Given the description of an element on the screen output the (x, y) to click on. 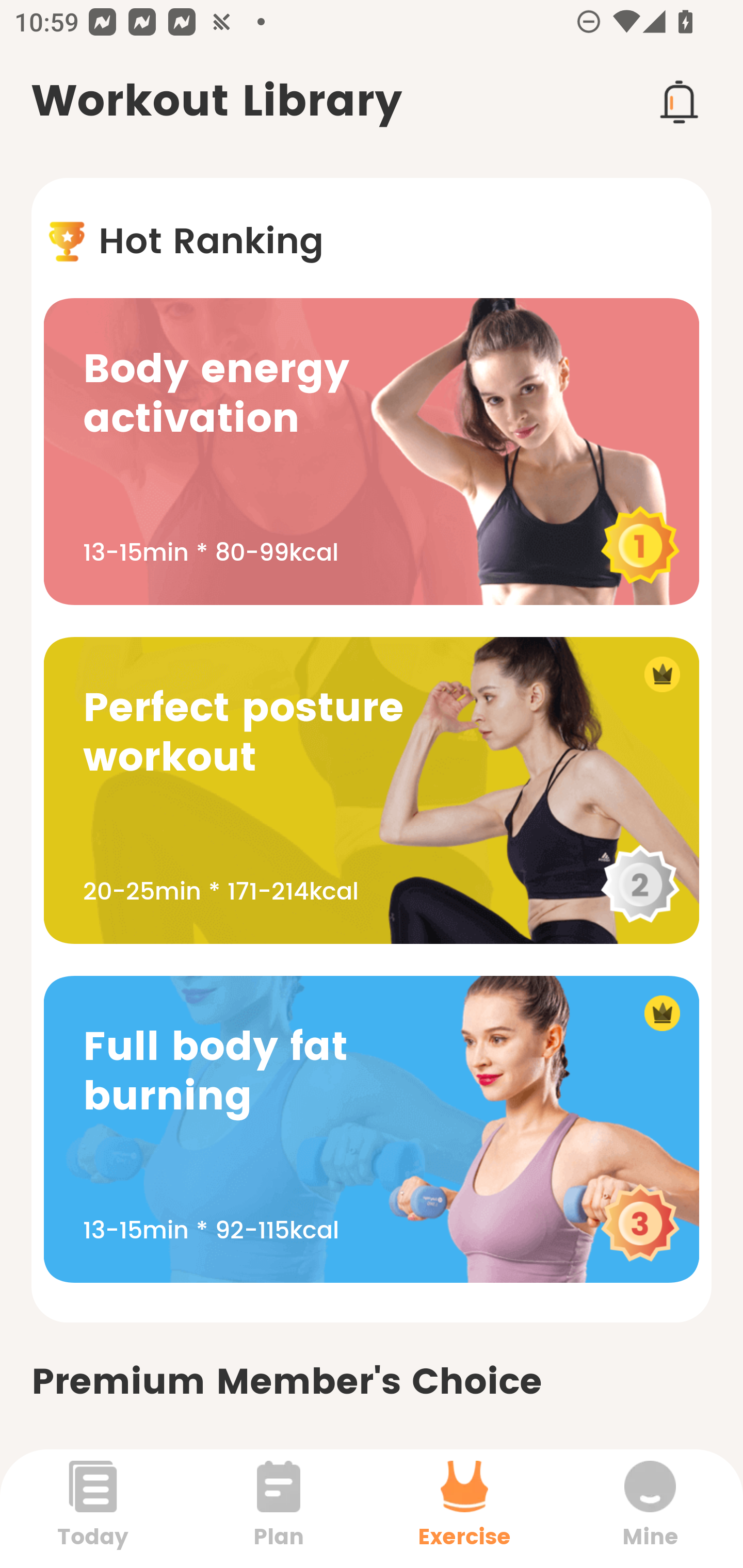
Body energy activation 13-15min * 80-99kcal (371, 451)
Perfect posture workout 20-25min * 171-214kcal (371, 789)
Full body fat burning 13-15min * 92-115kcal (371, 1128)
Today (92, 1508)
Plan (278, 1508)
Mine (650, 1508)
